Given the description of an element on the screen output the (x, y) to click on. 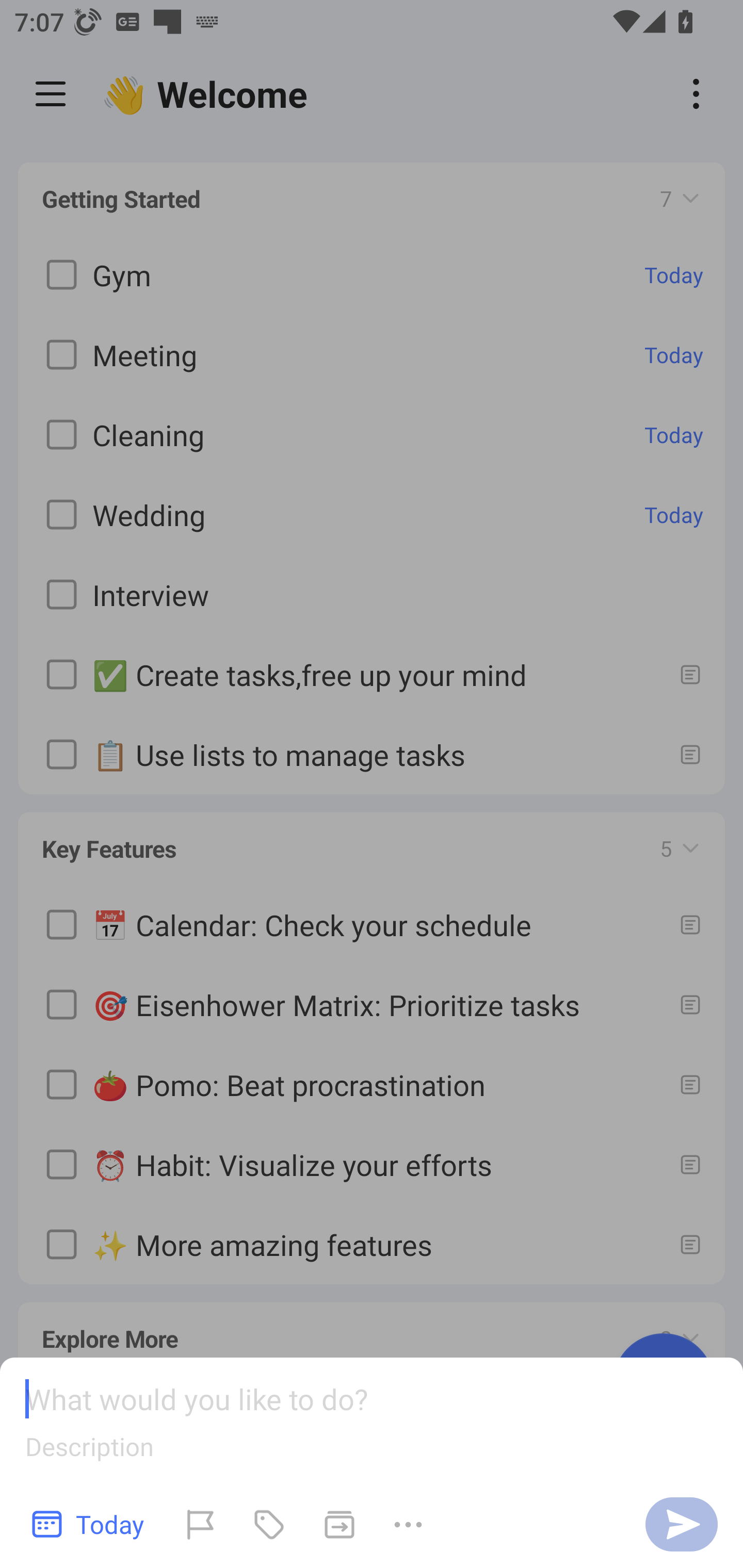
What would you like to do? Description Today (371, 1462)
Today (88, 1523)
